Given the description of an element on the screen output the (x, y) to click on. 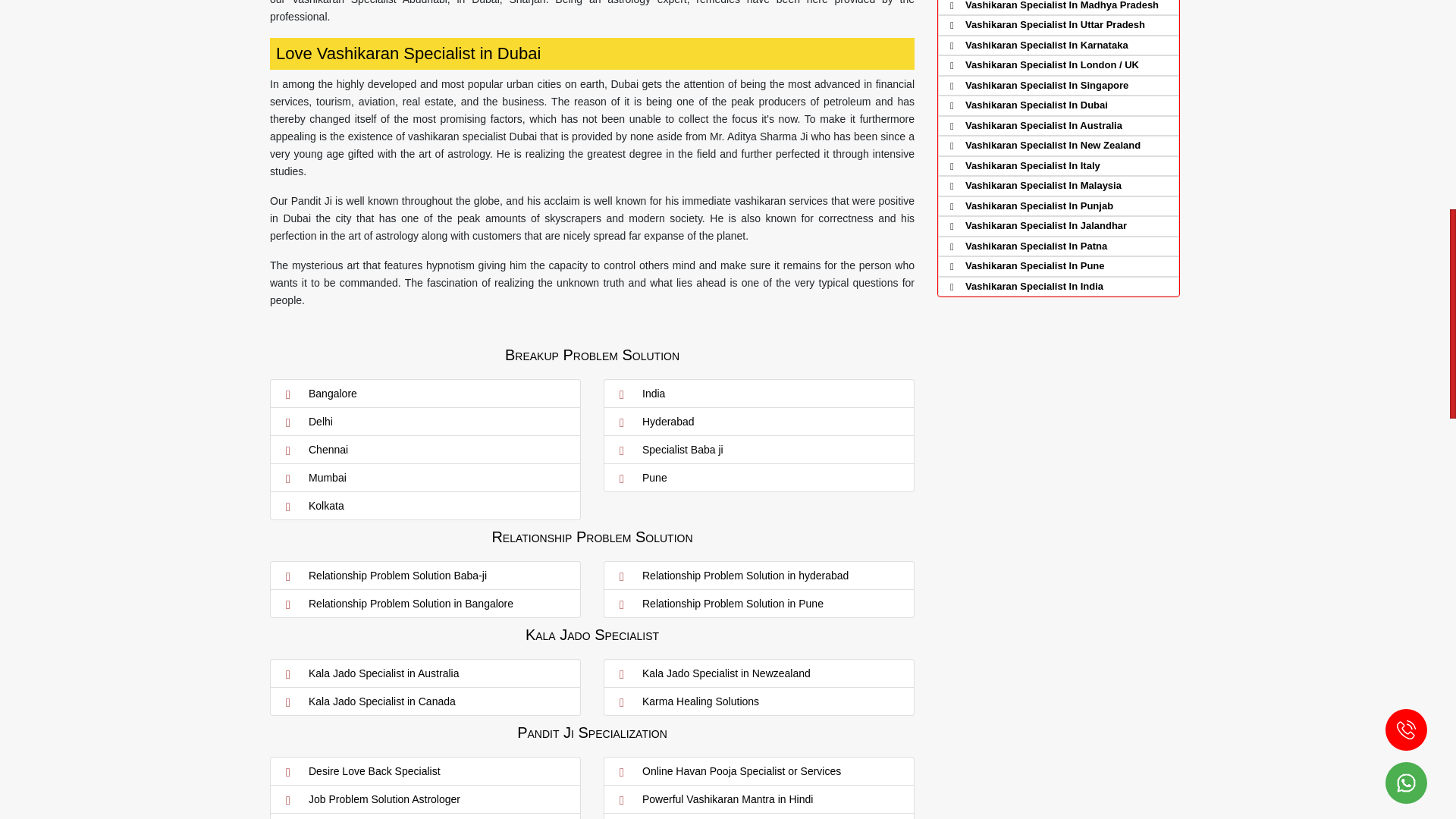
Breakup Problem Solution In Bangalore (424, 393)
Delhi (424, 421)
Breakup Problem Solution In Chennai (424, 449)
Breakup Problem Solution In Kolkata (424, 505)
Kala Jado Specialist in Newzealand (759, 672)
Breakup Problem Solution Specialist Baba ji (759, 449)
Mumbai (424, 477)
Kolkata (424, 505)
Karma Healing Solutions (759, 701)
Relationship Problem Solution in Bangalore (424, 603)
